Given the description of an element on the screen output the (x, y) to click on. 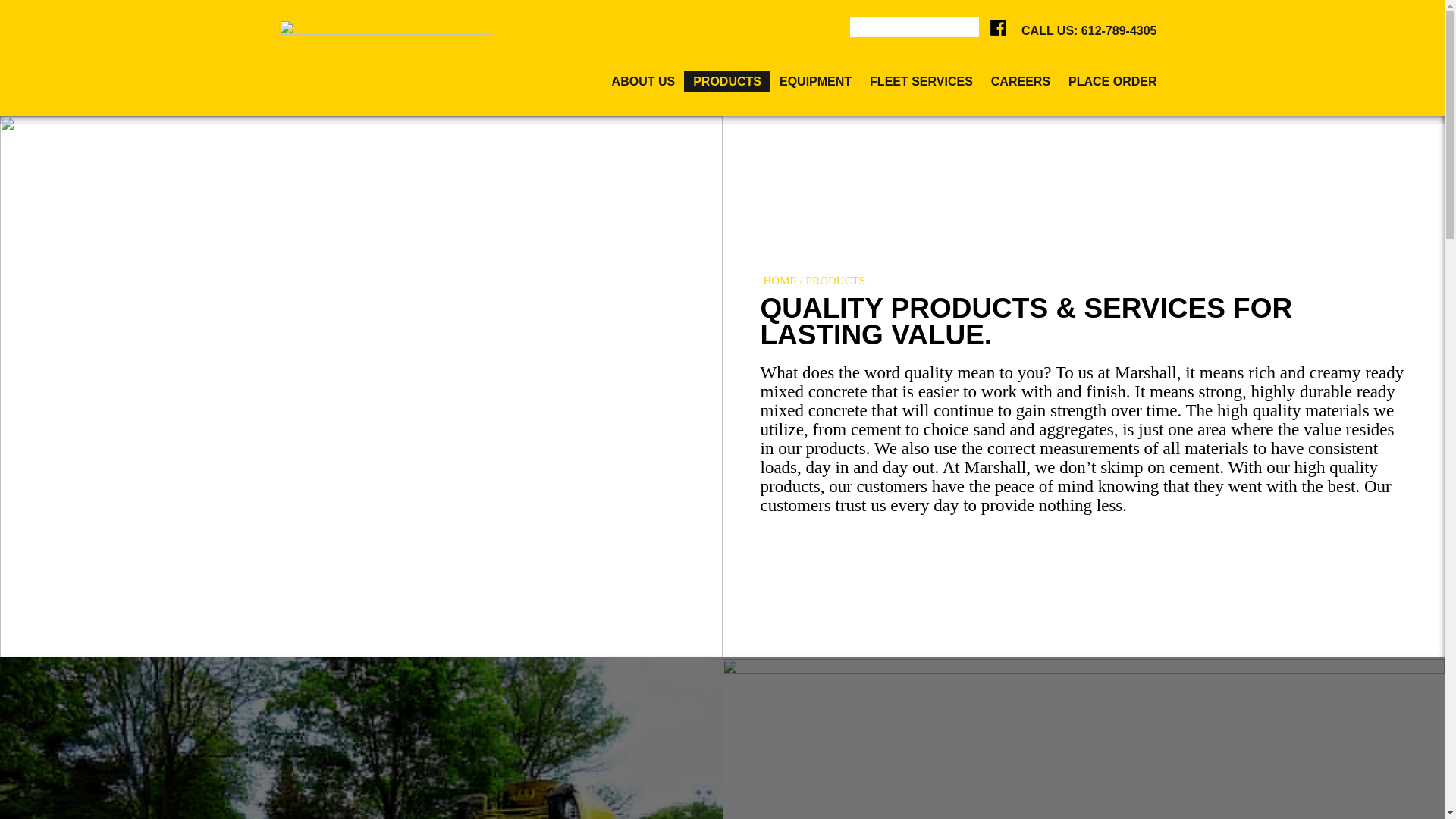
FLEET SERVICES (920, 81)
PRODUCTS (727, 81)
612-789-4305 (1119, 30)
Search (17, 7)
CAREERS (1020, 81)
ABOUT US (643, 81)
PLACE ORDER (1112, 81)
EQUIPMENT (815, 81)
